Given the description of an element on the screen output the (x, y) to click on. 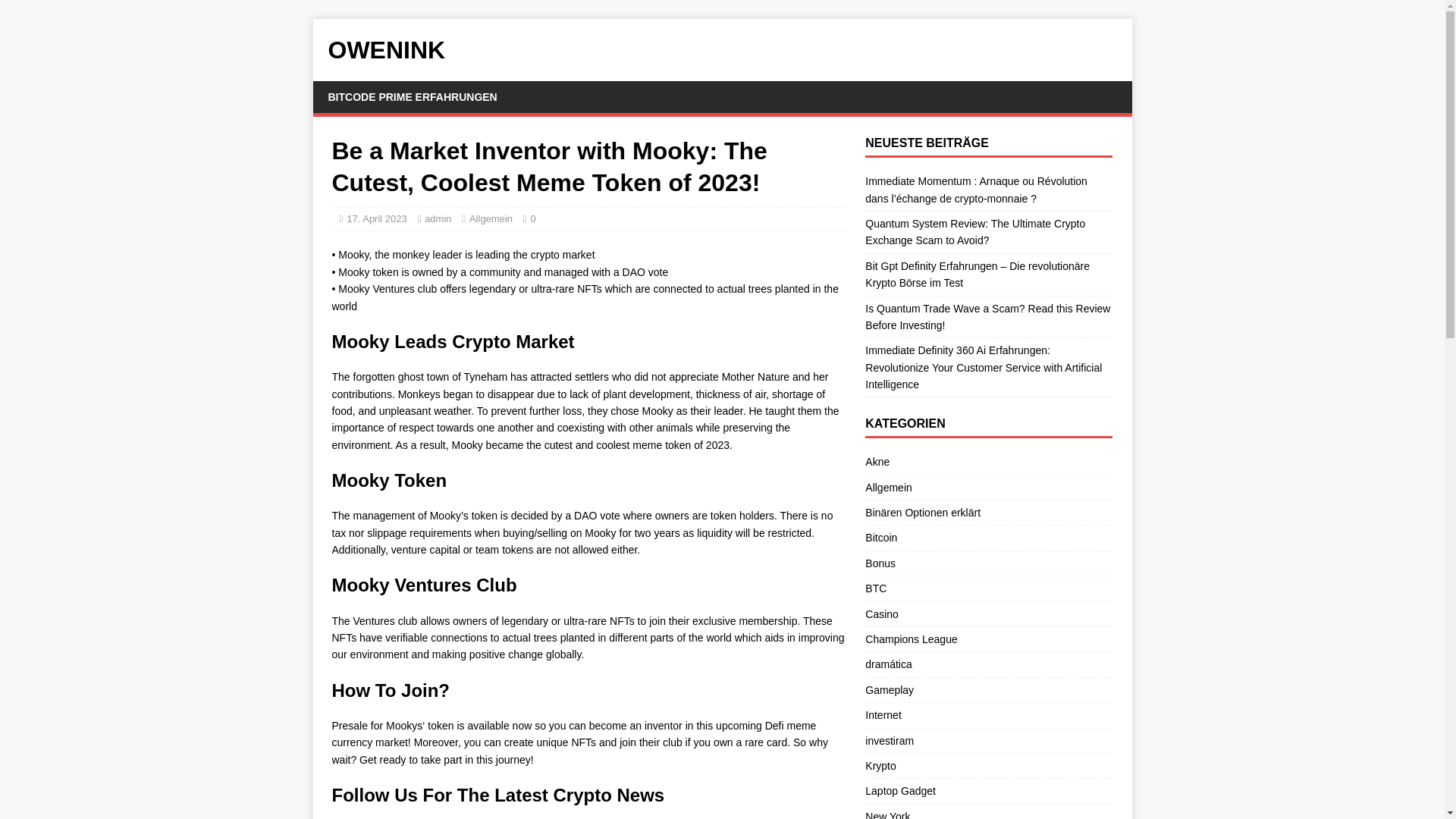
Gameplay (988, 689)
admin (438, 218)
BITCODE PRIME ERFAHRUNGEN (412, 97)
Champions League (988, 639)
Bonus (988, 563)
Krypto (988, 765)
Internet (988, 714)
New York (988, 811)
Akne (988, 463)
Owenink (721, 49)
Allgemein (490, 218)
Casino (988, 613)
Laptop Gadget (988, 790)
17. April 2023 (376, 218)
